Given the description of an element on the screen output the (x, y) to click on. 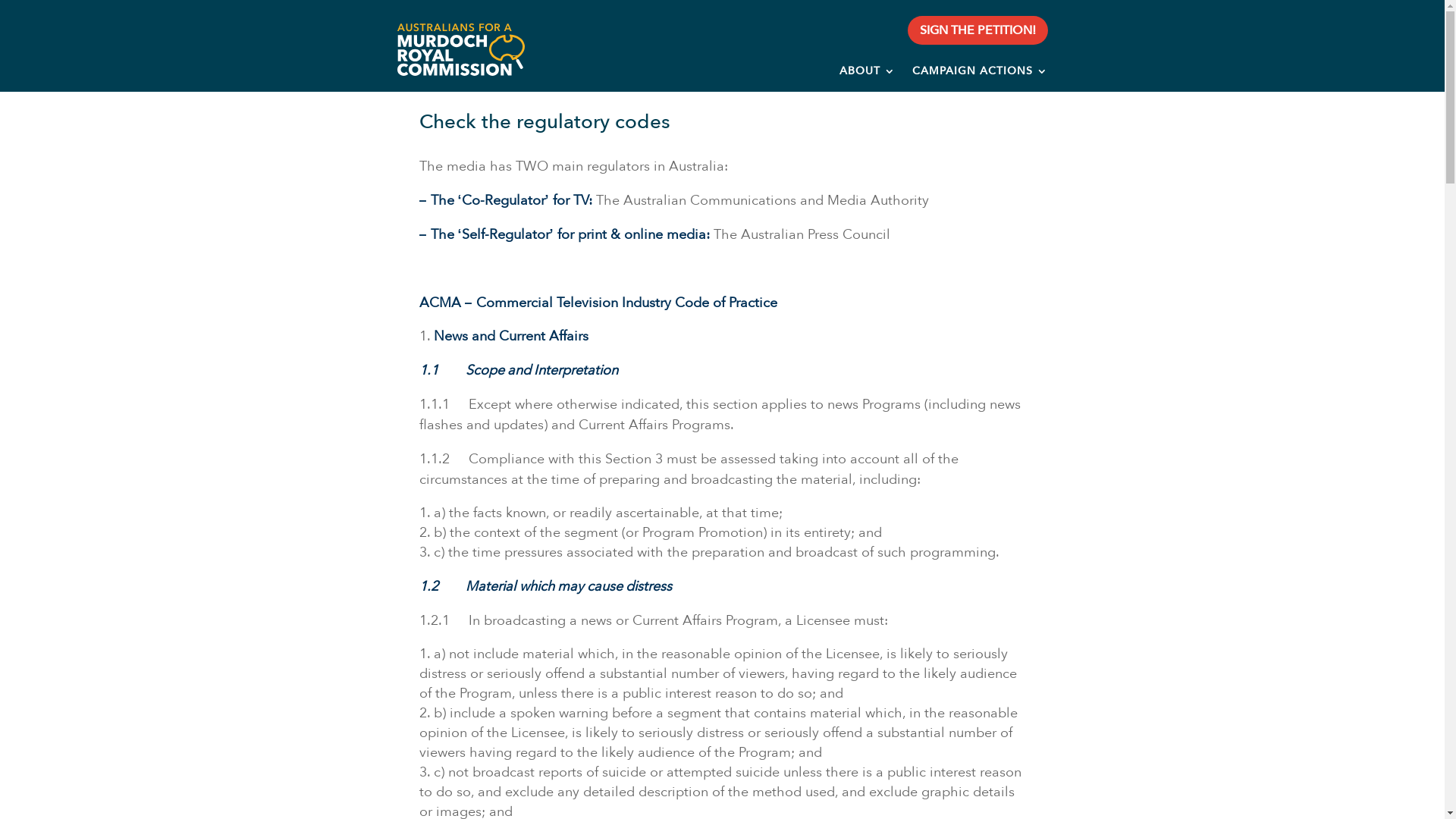
CAMPAIGN ACTIONS Element type: text (980, 73)
ABOUT Element type: text (867, 73)
Australians for a Murdoch Royal Commission Element type: hover (459, 49)
SIGN THE PETITION! Element type: text (977, 29)
